Given the description of an element on the screen output the (x, y) to click on. 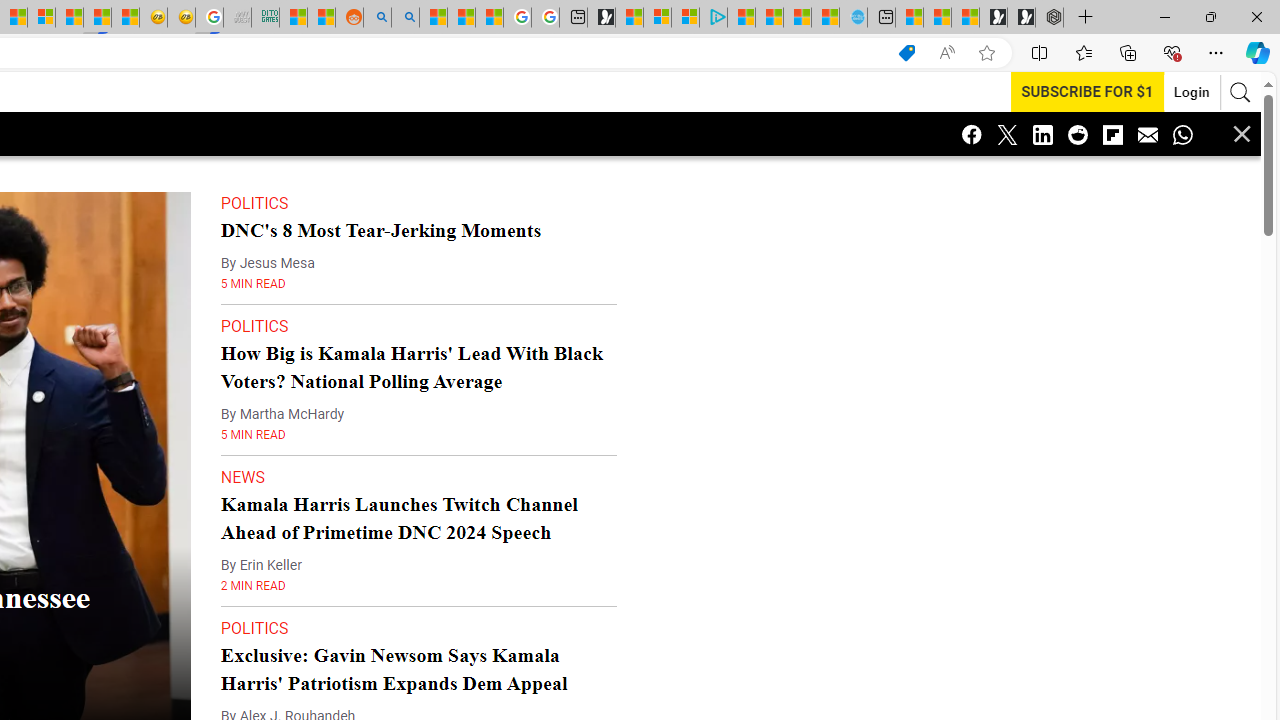
Class: icon-flipboard (1112, 133)
Navy Quest (237, 17)
Subscribe to our service (1075, 91)
MSN (97, 17)
NEWS (243, 437)
